Given the description of an element on the screen output the (x, y) to click on. 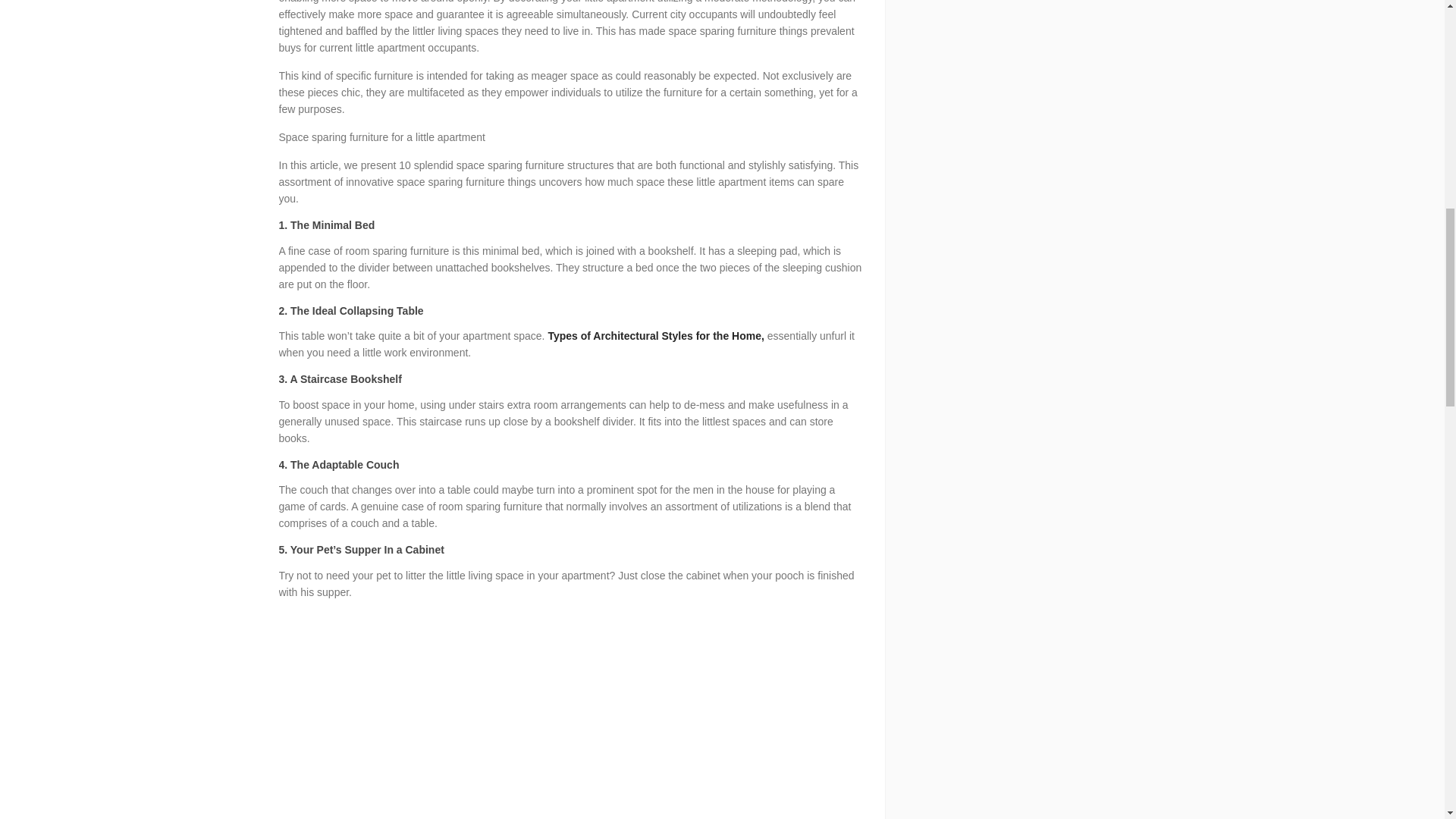
Types of Architectural Styles for the Home, (655, 336)
